Given the description of an element on the screen output the (x, y) to click on. 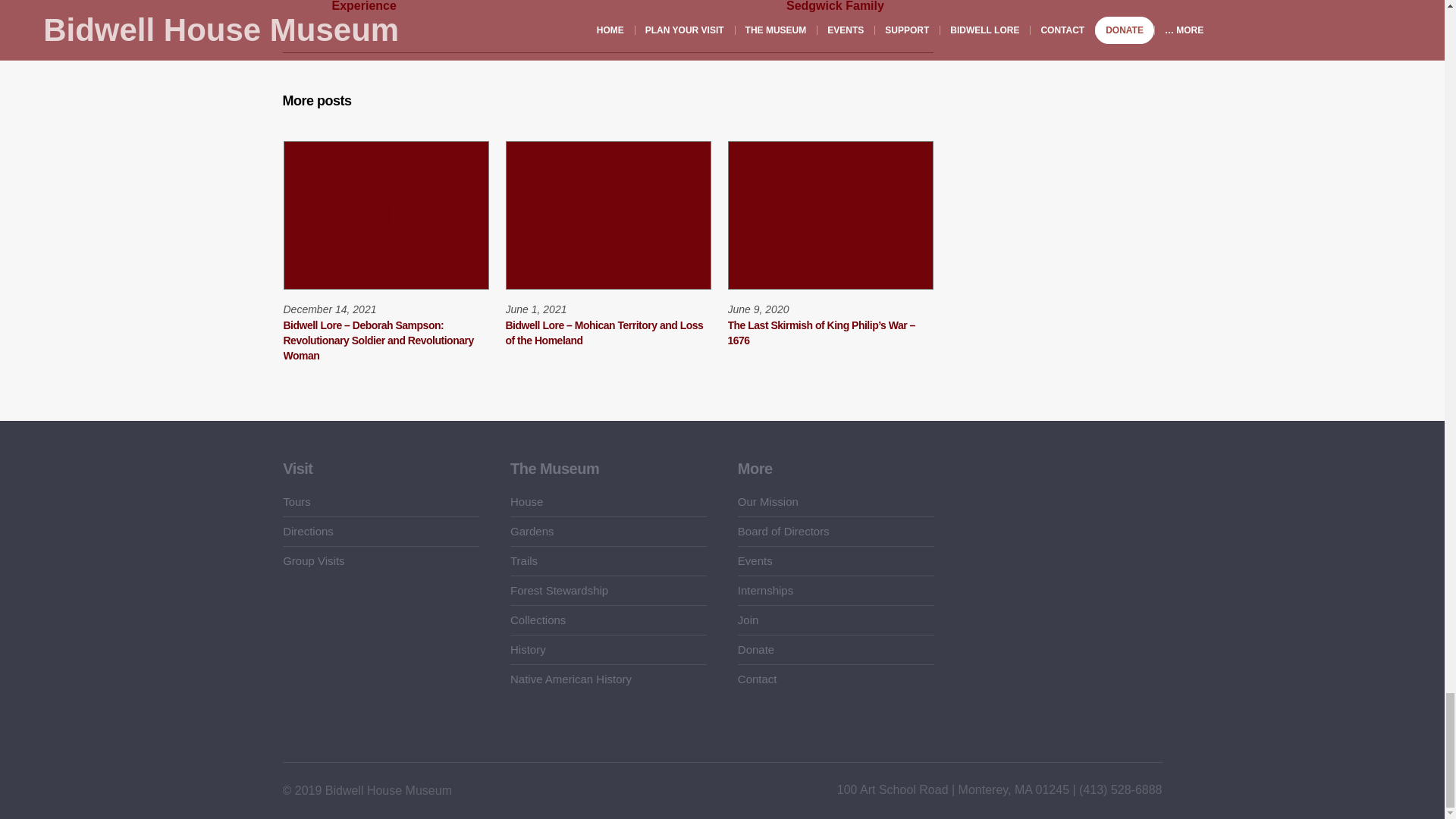
June 9, 2020 (758, 309)
December 14, 2021 (330, 309)
June 1, 2021 (535, 309)
